Given the description of an element on the screen output the (x, y) to click on. 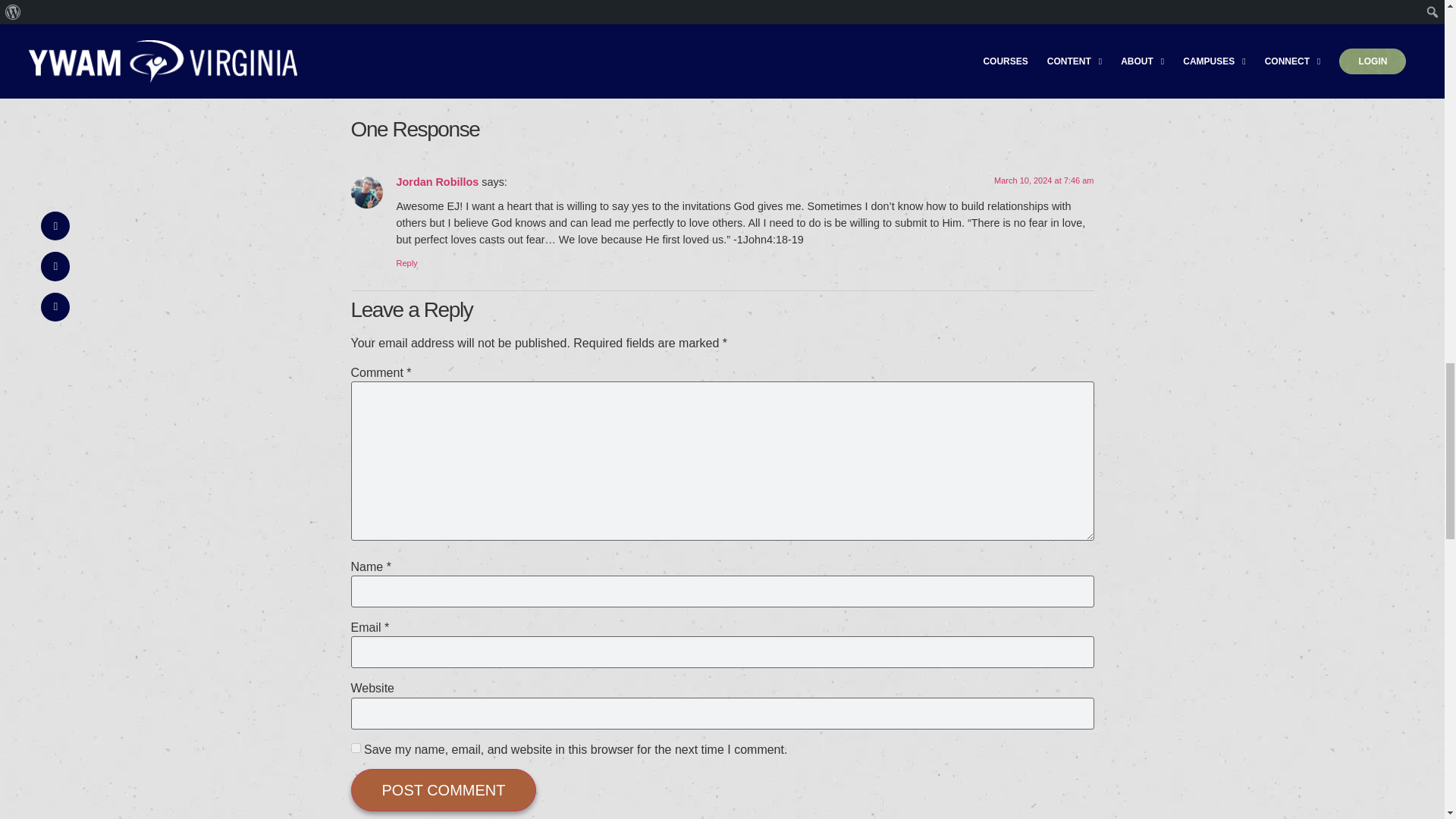
Post Comment (442, 790)
yes (354, 747)
